Given the description of an element on the screen output the (x, y) to click on. 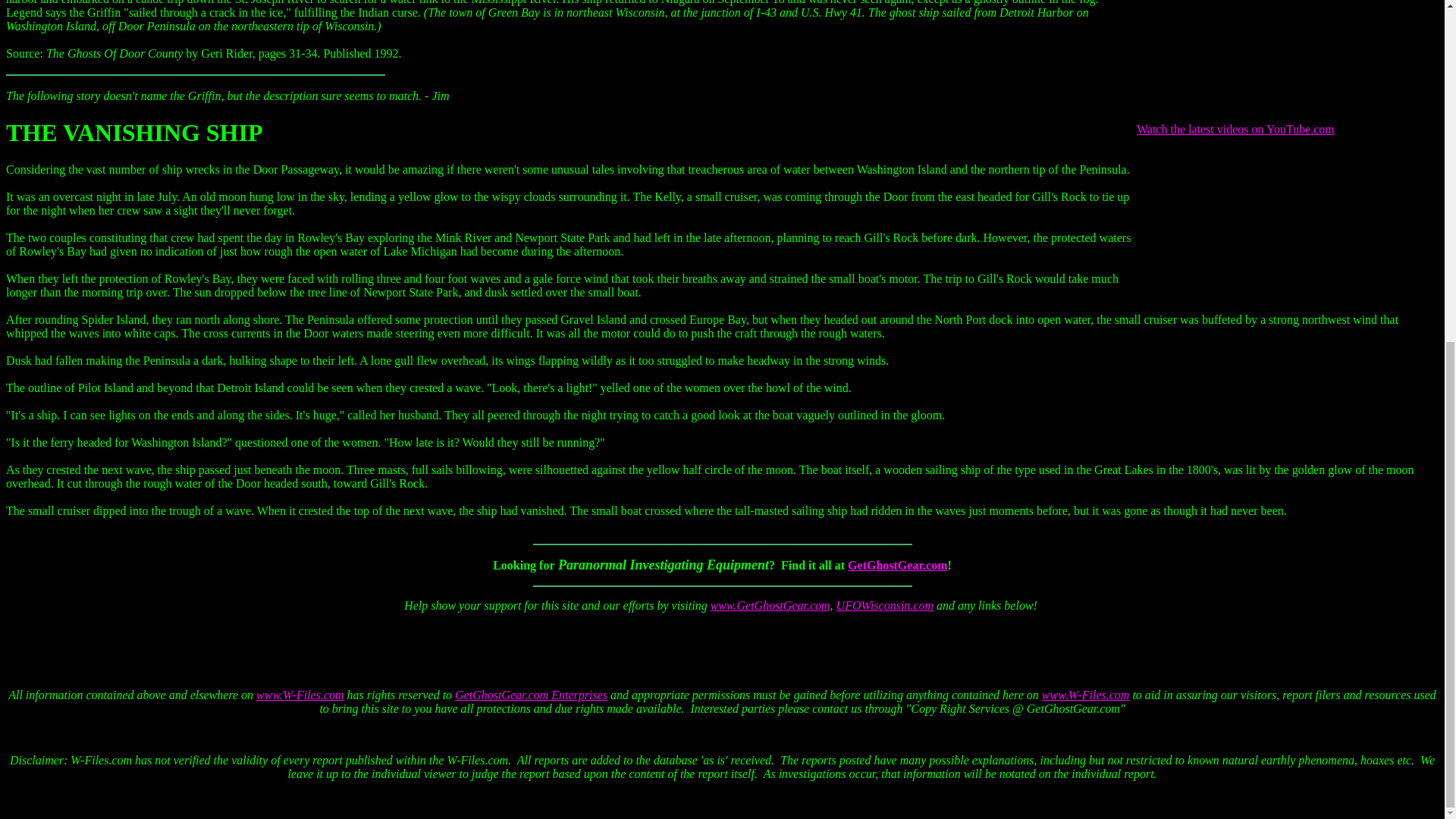
UFOWisconsin.com (884, 604)
GetGhostGear.com (897, 564)
Watch the latest videos on YouTube.com (1236, 128)
www.W-Files.com (1085, 694)
www.GetGhostGear.com (769, 604)
www.W-Files.com (299, 694)
GetGhostGear.com Enterprises (530, 694)
